Given the description of an element on the screen output the (x, y) to click on. 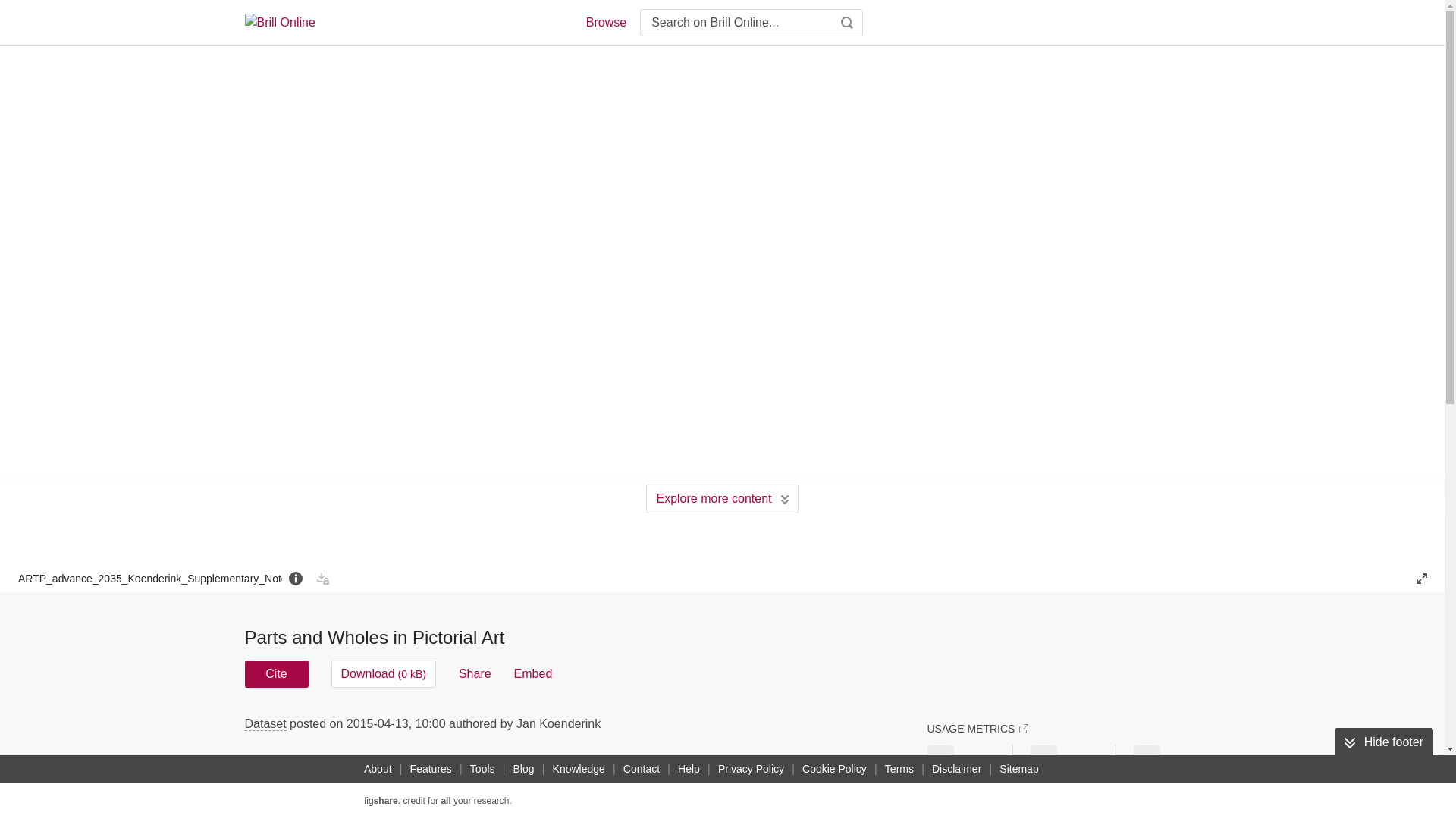
Hide footer (1383, 742)
Help (688, 769)
Features (431, 769)
Privacy Policy (751, 769)
USAGE METRICS (976, 728)
About (377, 769)
Browse (605, 22)
Tools (482, 769)
Knowledge (579, 769)
Share (475, 673)
Contact (640, 769)
Cite (275, 673)
Explore more content (721, 498)
Embed (533, 673)
